Given the description of an element on the screen output the (x, y) to click on. 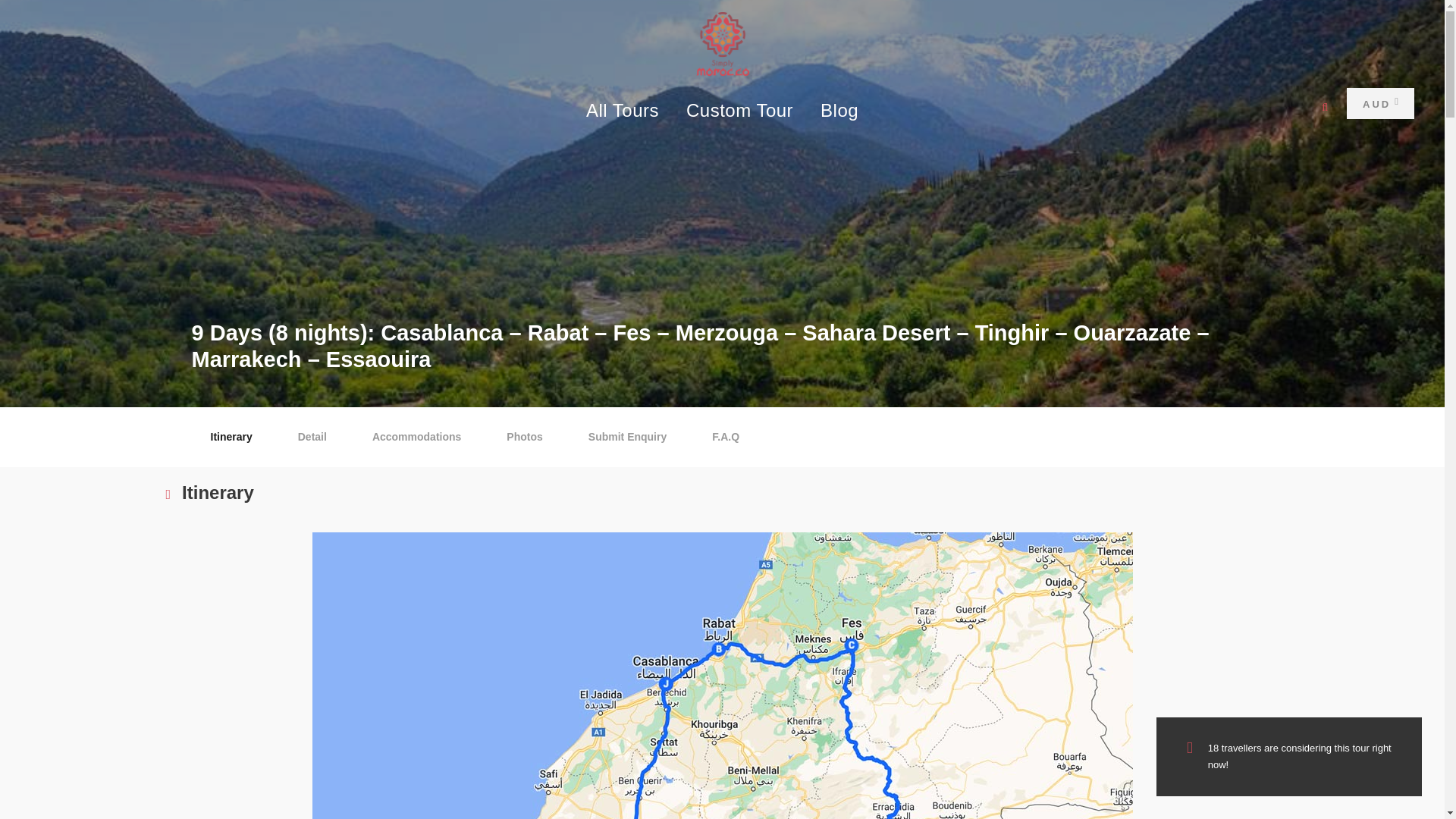
Submit Enquiry (627, 437)
Custom Tour (739, 113)
Itinerary (230, 437)
Join us (1096, 618)
Photos (523, 437)
Accommodations (416, 437)
F.A.Q (725, 437)
All Tours (622, 113)
Blog (840, 113)
